Given the description of an element on the screen output the (x, y) to click on. 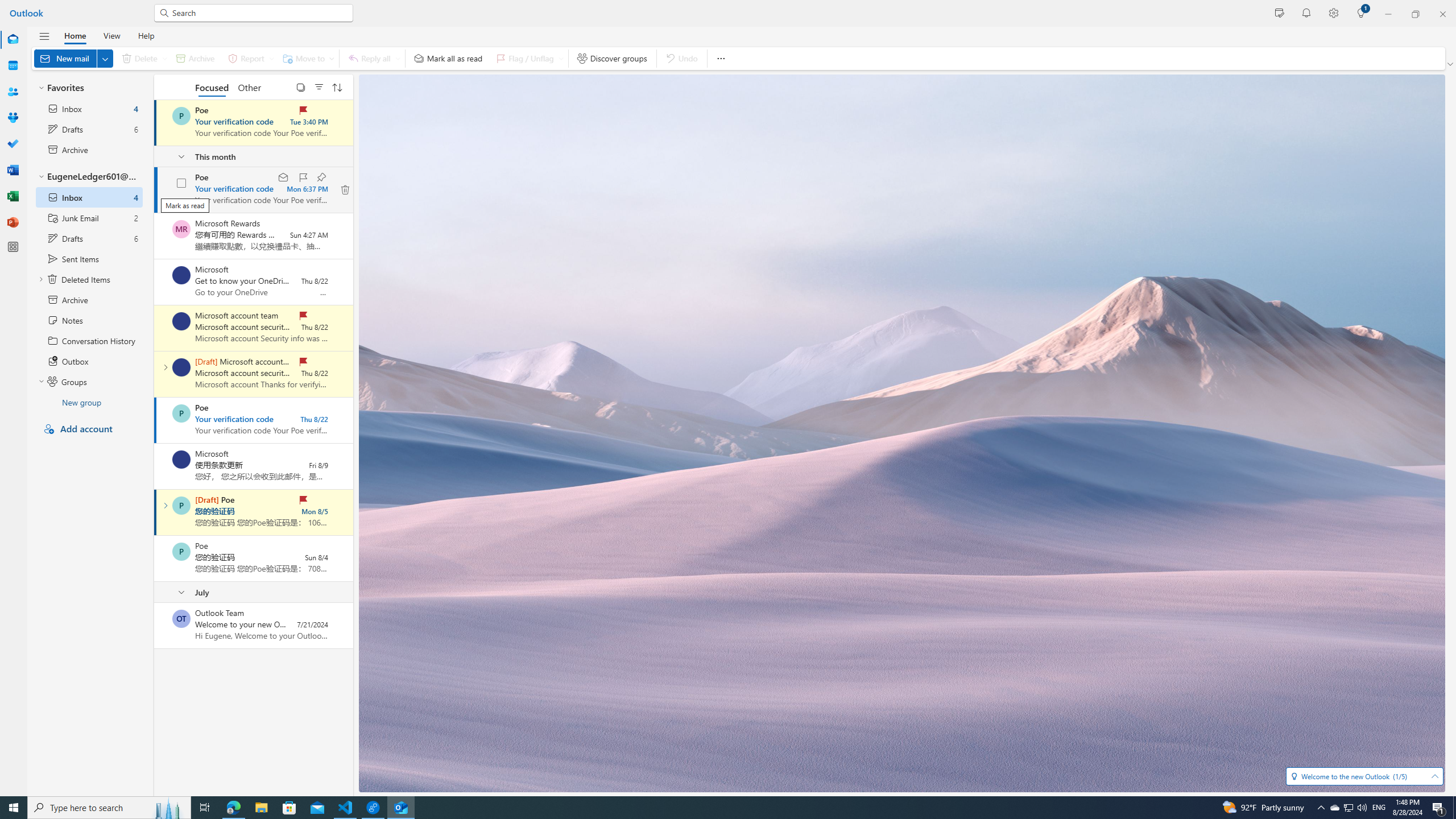
Expand to see more respond options (398, 58)
Mark as read (154, 511)
Sorted: By Date (336, 86)
Word (12, 170)
PowerPoint (12, 222)
New mail (73, 58)
Mark as unread (154, 625)
Other (248, 86)
Class: KBPxt hn2lg (345, 189)
Expand conversation (164, 505)
Outlook Team (180, 618)
